Given the description of an element on the screen output the (x, y) to click on. 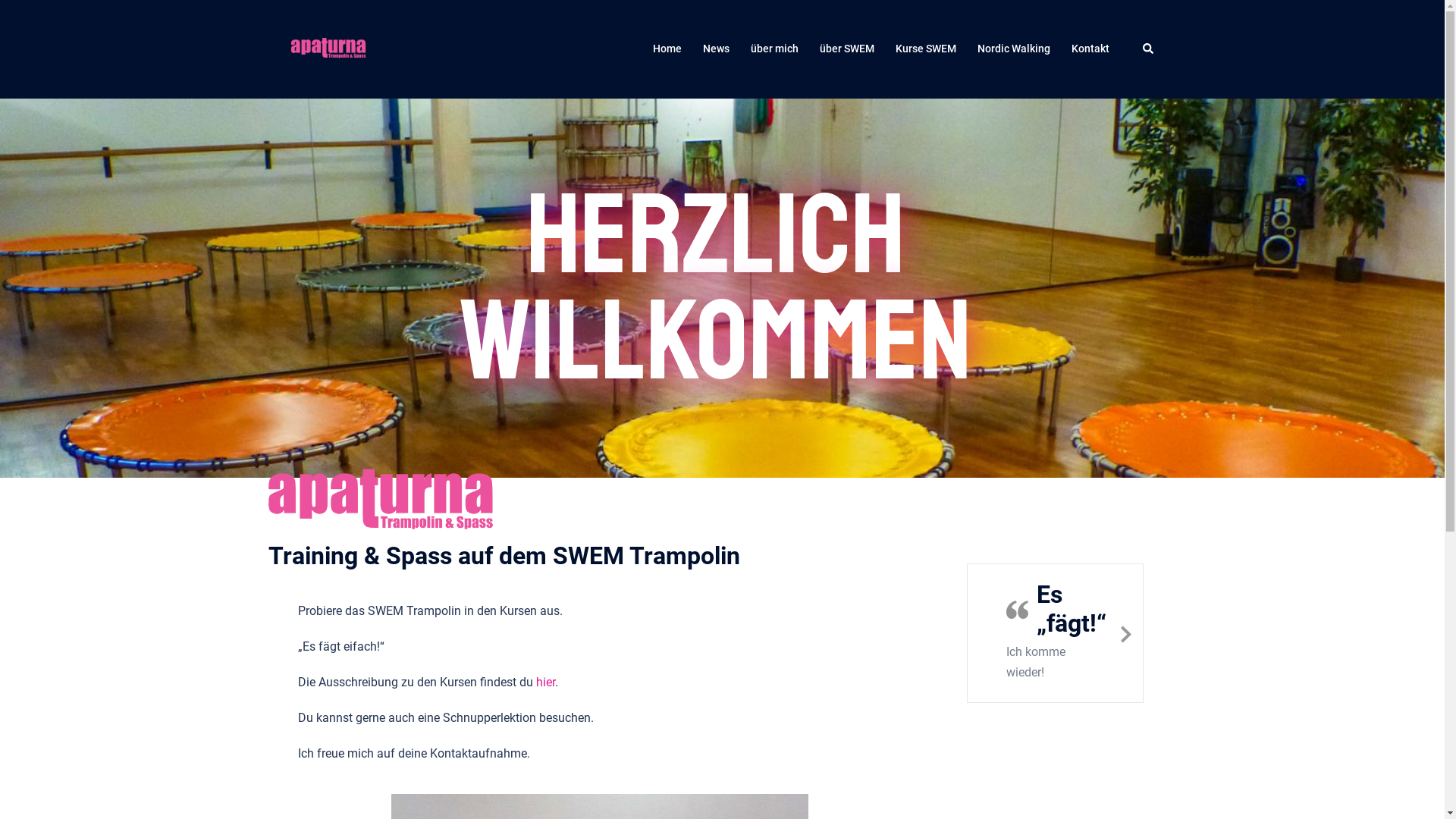
Home Element type: text (666, 49)
Kurse SWEM Element type: text (924, 49)
Nordic Walking Element type: text (1012, 49)
Kontakt Element type: text (1089, 49)
apaturna Element type: hover (327, 47)
News Element type: text (715, 49)
hier Element type: text (544, 681)
